Given the description of an element on the screen output the (x, y) to click on. 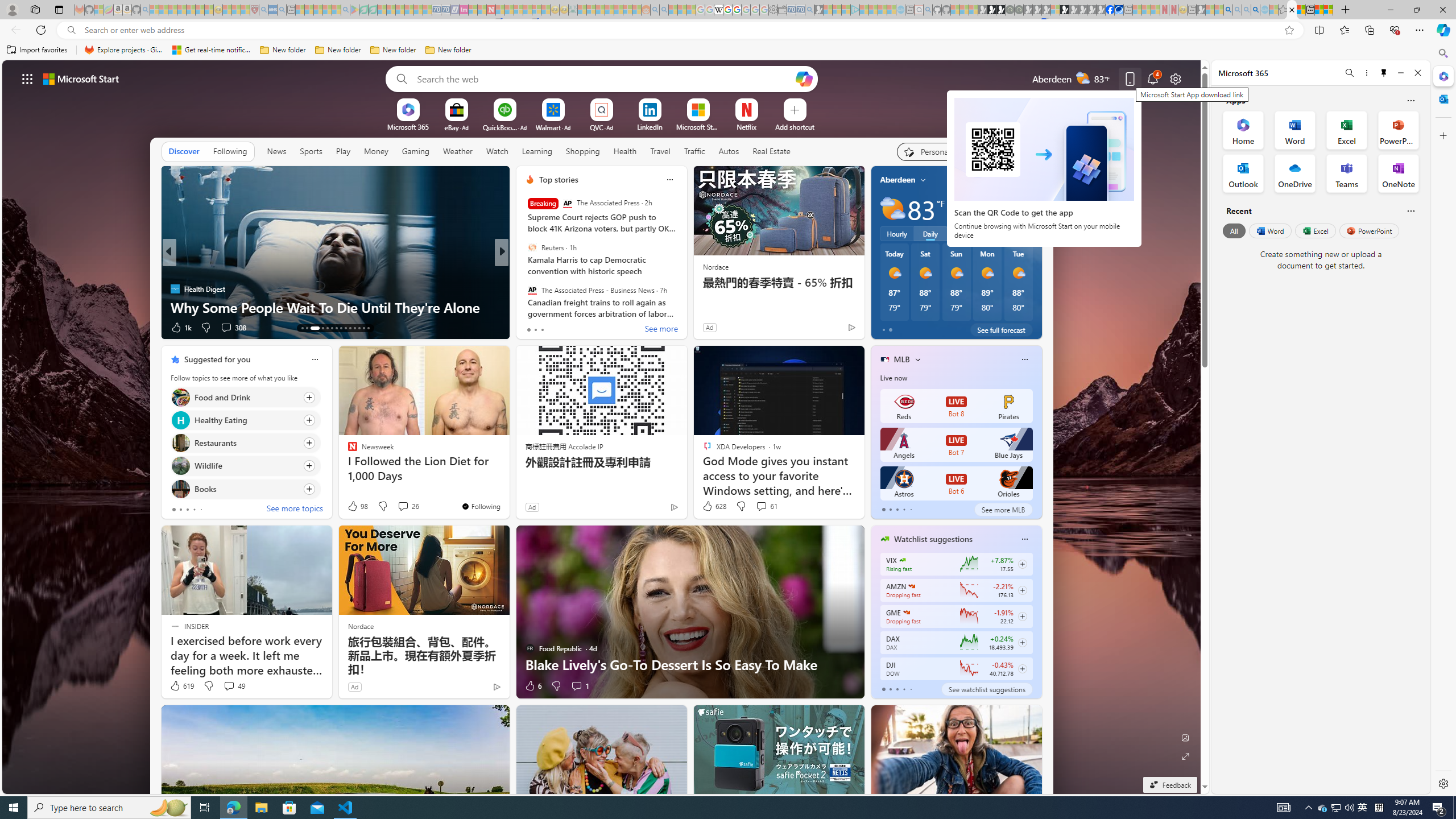
AutomationID: tab-23 (354, 328)
Settings - Sleeping (773, 9)
XDA Developers (524, 288)
Favorites bar (715, 49)
